Given the description of an element on the screen output the (x, y) to click on. 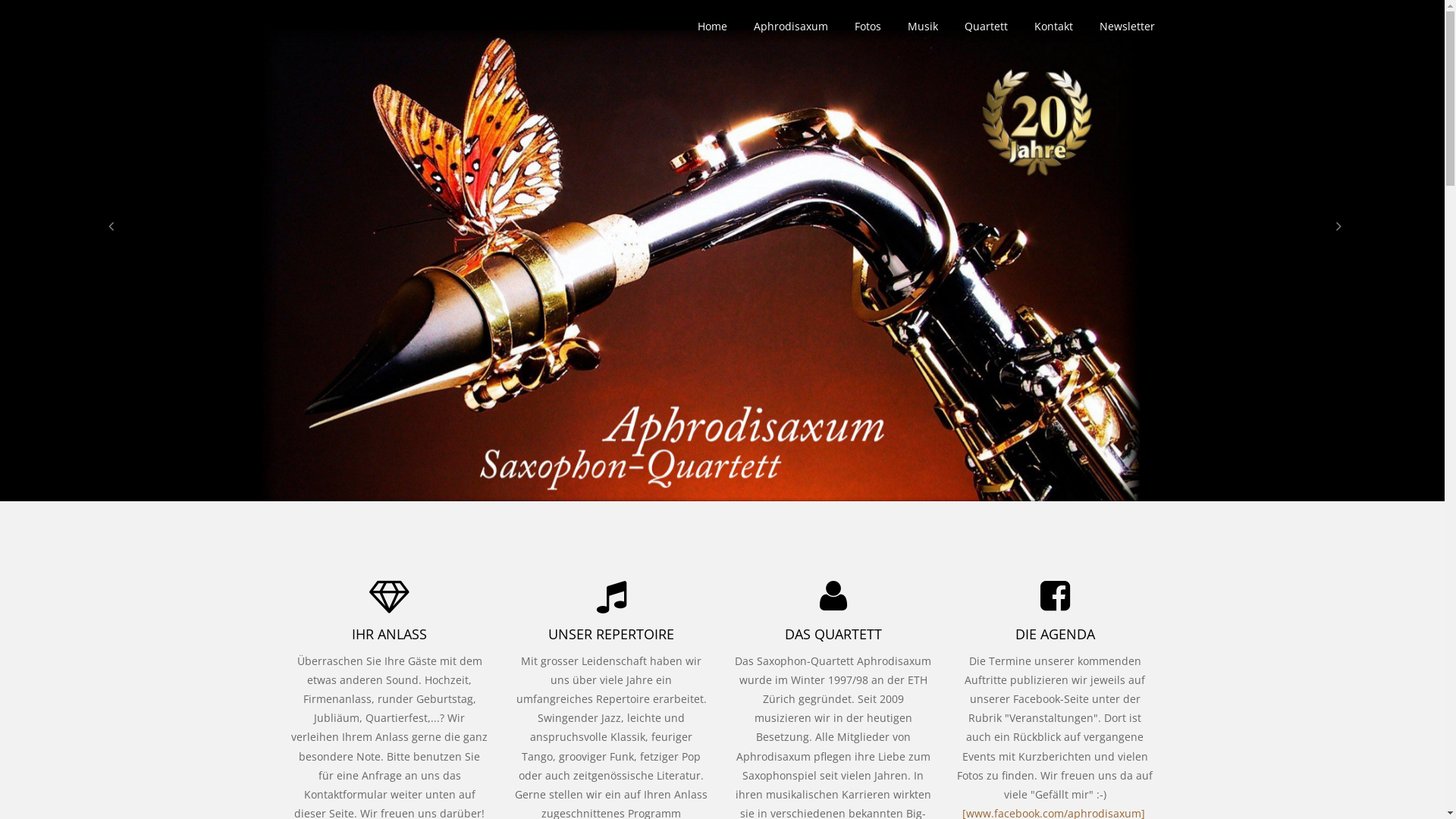
Kontakt Element type: text (1053, 26)
Quartett Element type: text (985, 26)
Fotos Element type: text (866, 26)
Aphrodisaxum Element type: text (790, 26)
Newsletter Element type: text (1126, 26)
Home Element type: text (712, 26)
DIE AGENDA Element type: text (1054, 634)
Musik Element type: text (921, 26)
